Given the description of an element on the screen output the (x, y) to click on. 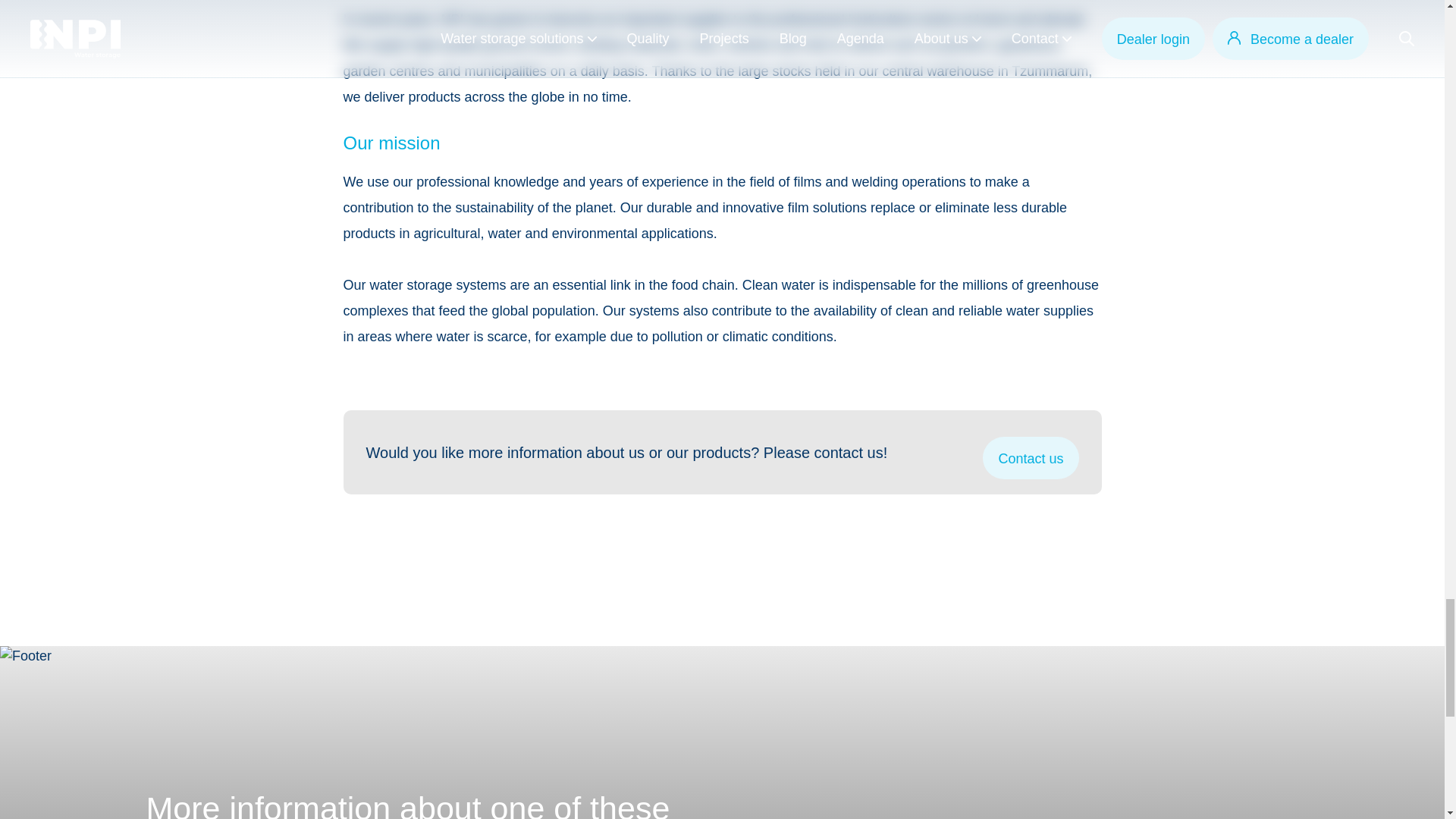
Contact us (1030, 457)
